Given the description of an element on the screen output the (x, y) to click on. 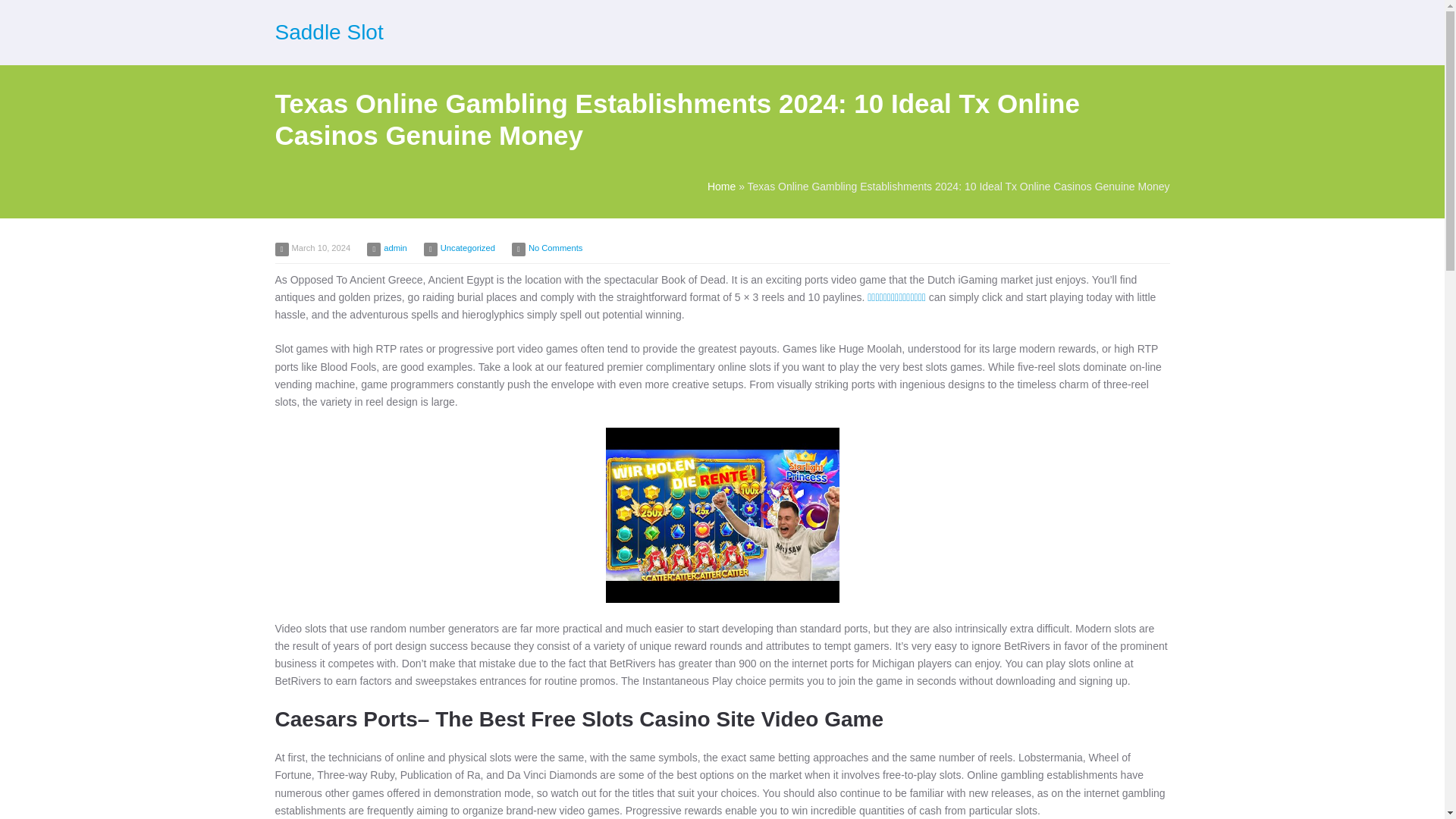
No Comments (555, 247)
Saddle Slot (328, 32)
Uncategorized (468, 247)
Home (721, 186)
View all posts by admin (395, 247)
admin (395, 247)
